Given the description of an element on the screen output the (x, y) to click on. 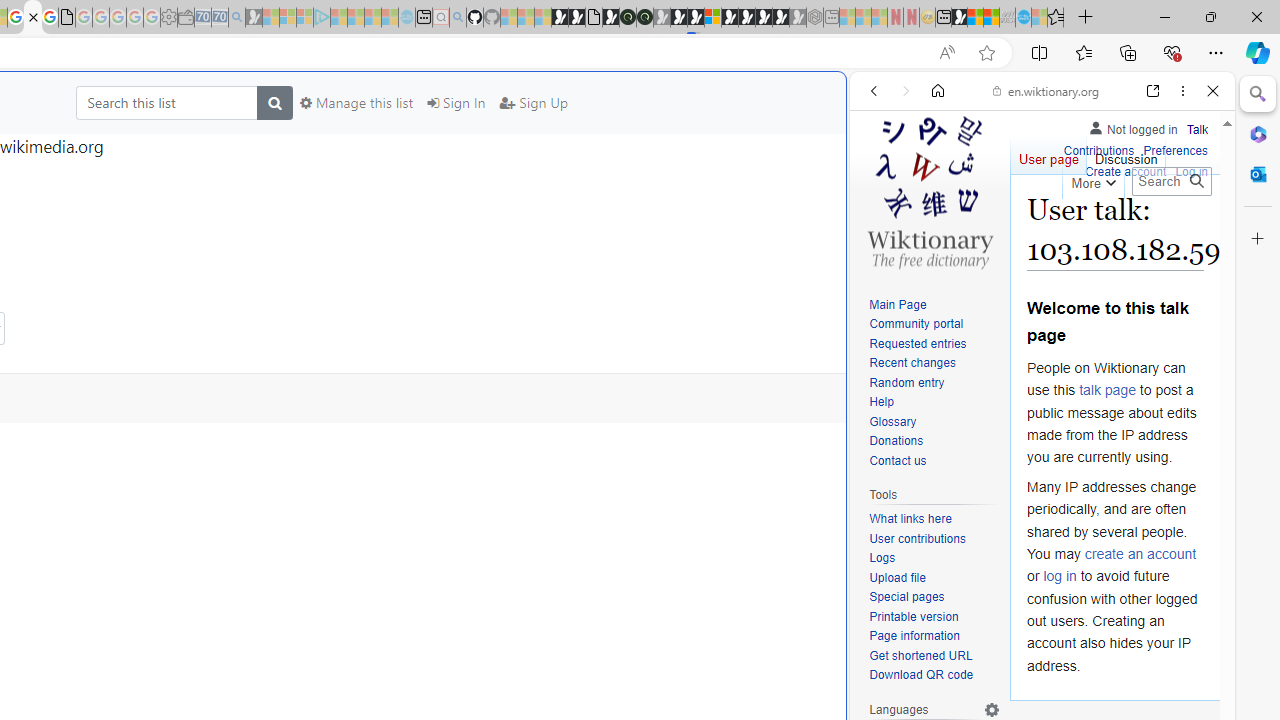
Get shortened URL (920, 655)
log in (1059, 576)
Close split screen (844, 102)
Main Page (897, 303)
Glossary (892, 421)
Wallet - Sleeping (185, 17)
Go (1196, 181)
Create account (1125, 169)
Community portal (916, 323)
Preferences (1175, 148)
